Given the description of an element on the screen output the (x, y) to click on. 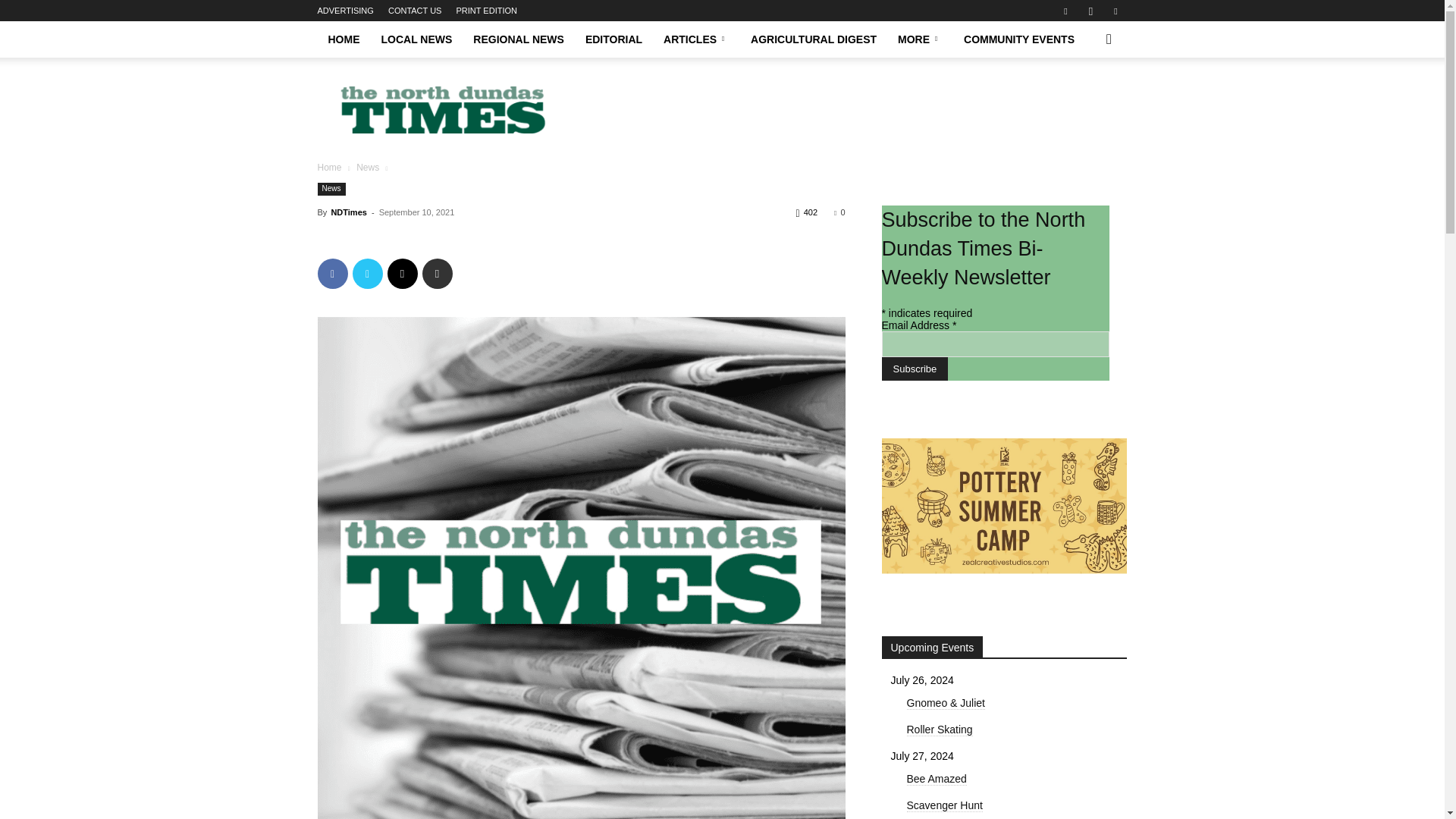
ADVERTISING (344, 10)
Twitter (1114, 10)
Instagram (1090, 10)
EDITORIAL (613, 39)
REGIONAL NEWS (519, 39)
Facebook (1065, 10)
topFacebookLike (430, 239)
Print (436, 273)
Twitter (366, 273)
Subscribe (913, 368)
CONTACT US (415, 10)
HOME (343, 39)
Email (401, 273)
View all posts in News (367, 167)
LOCAL NEWS (416, 39)
